Given the description of an element on the screen output the (x, y) to click on. 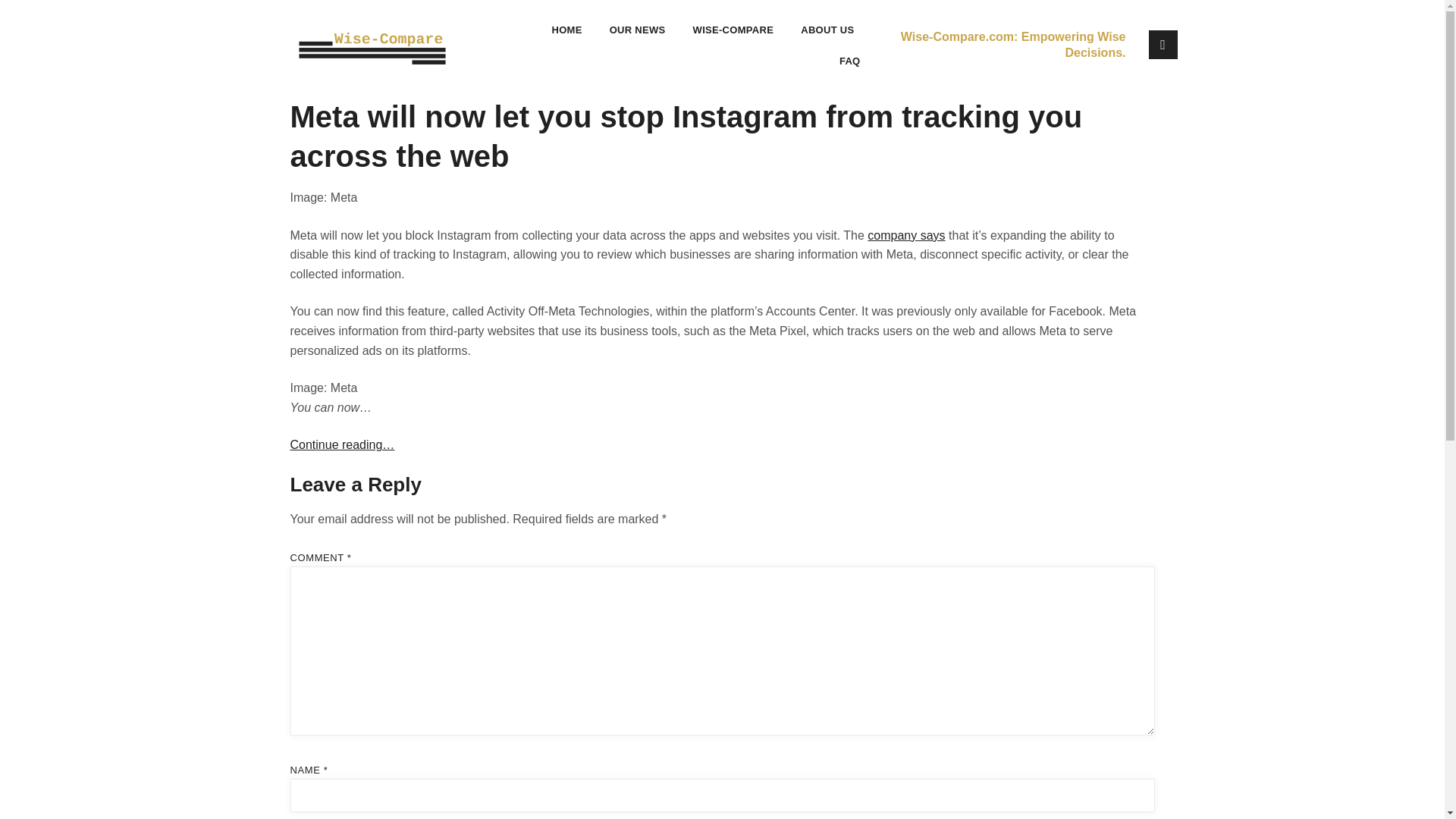
WISE-COMPARE (733, 29)
FAQ (849, 60)
ABOUT US (827, 29)
company says (905, 235)
HOME (566, 29)
OUR NEWS (637, 29)
